Given the description of an element on the screen output the (x, y) to click on. 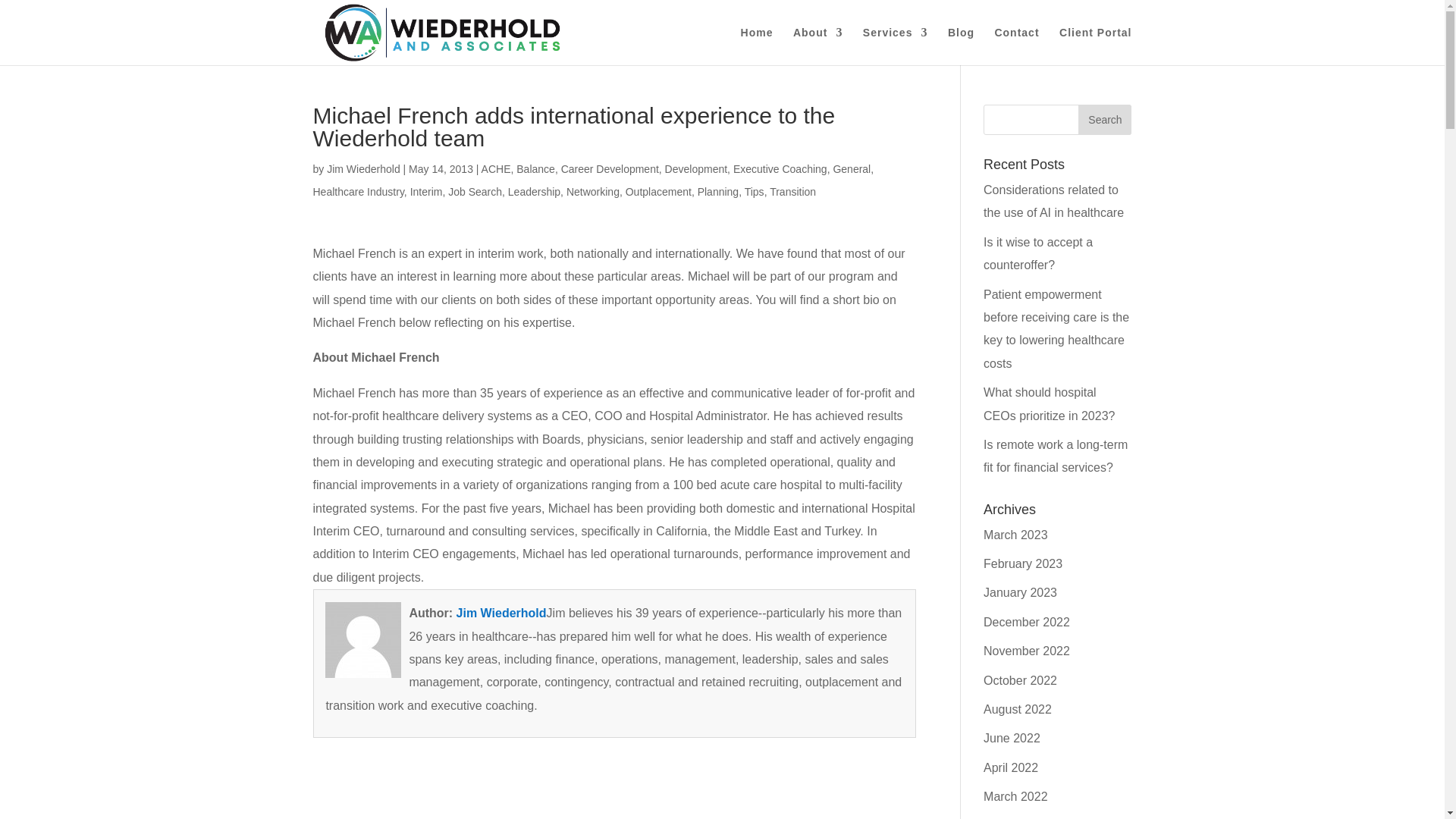
Considerations related to the use of AI in healthcare (1054, 201)
Contact (1016, 46)
Home (757, 46)
Posts by Jim Wiederhold (362, 168)
Tips (754, 191)
Search (1104, 119)
Blog (960, 46)
ACHE (496, 168)
Balance (535, 168)
Networking (593, 191)
January 2023 (1020, 592)
Job Search (475, 191)
About (818, 46)
Leadership (534, 191)
Is remote work a long-term fit for financial services? (1055, 456)
